Given the description of an element on the screen output the (x, y) to click on. 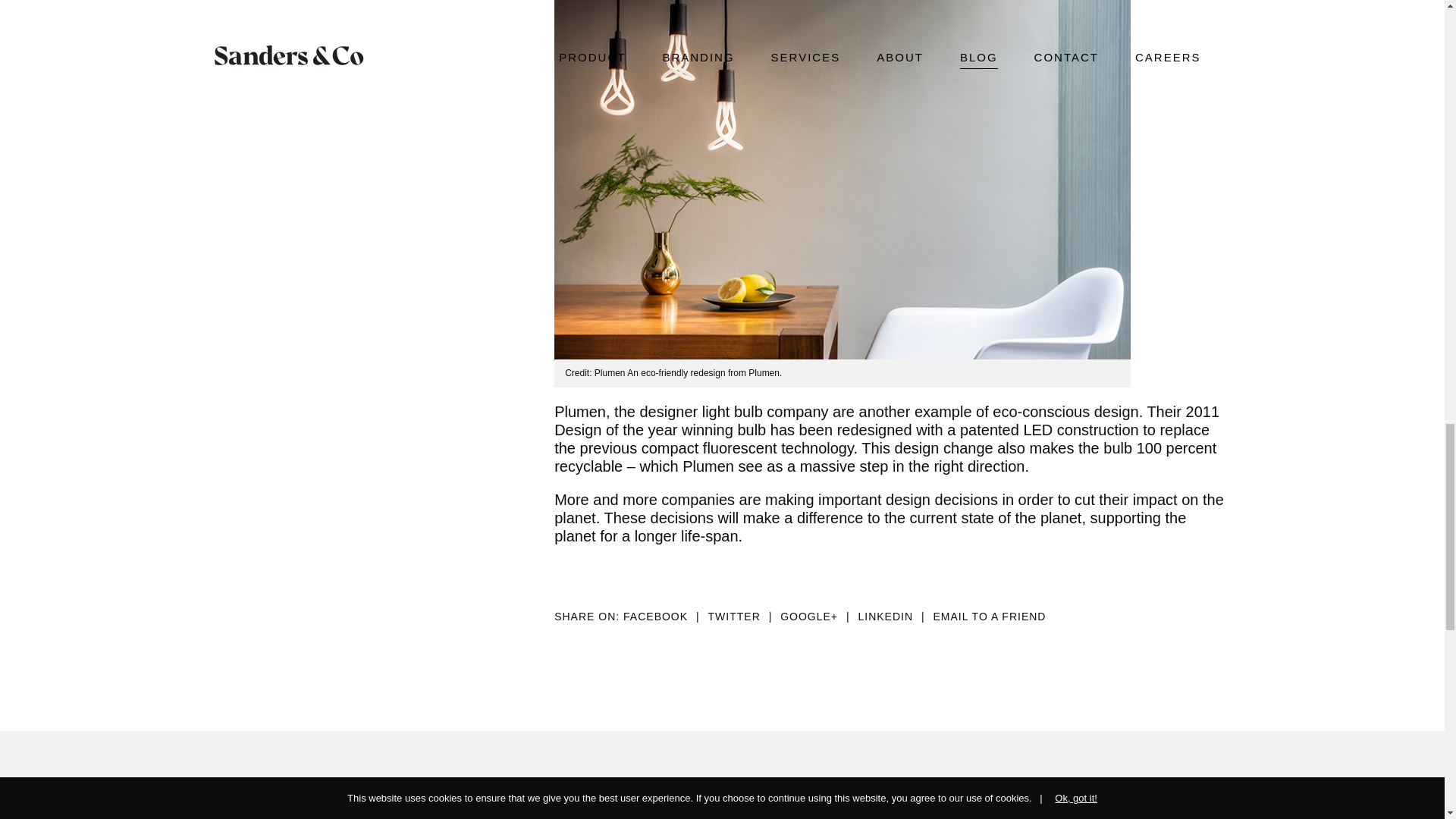
TWITTER (743, 616)
FACEBOOK (665, 616)
Email to a friend (989, 616)
Share on Facebook (665, 616)
LINKEDIN (895, 616)
EMAIL TO A FRIEND (989, 616)
Share on Twitter (743, 616)
Share on LinkedIn (895, 616)
